Given the description of an element on the screen output the (x, y) to click on. 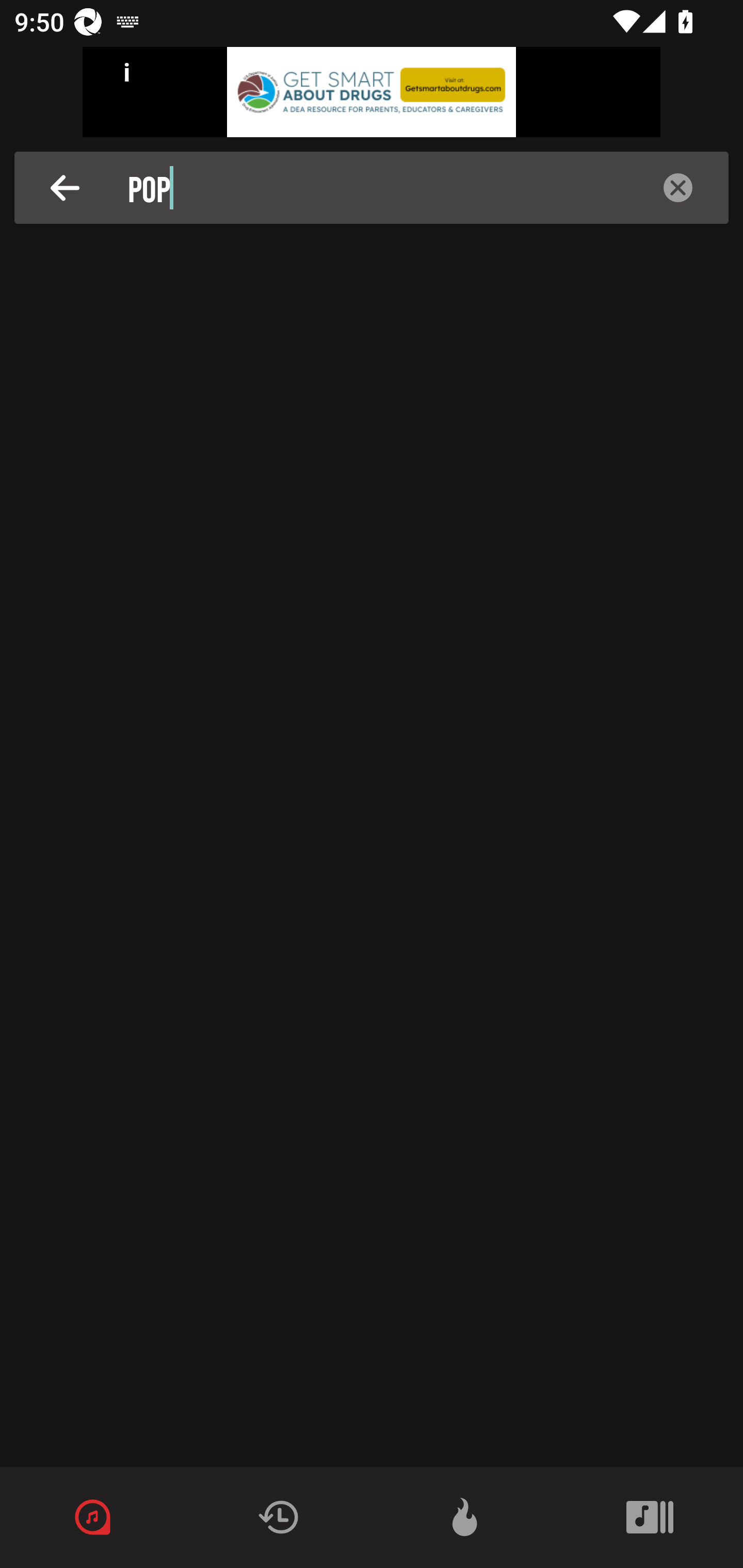
Pop (377, 188)
Description (64, 188)
Description (677, 188)
